Given the description of an element on the screen output the (x, y) to click on. 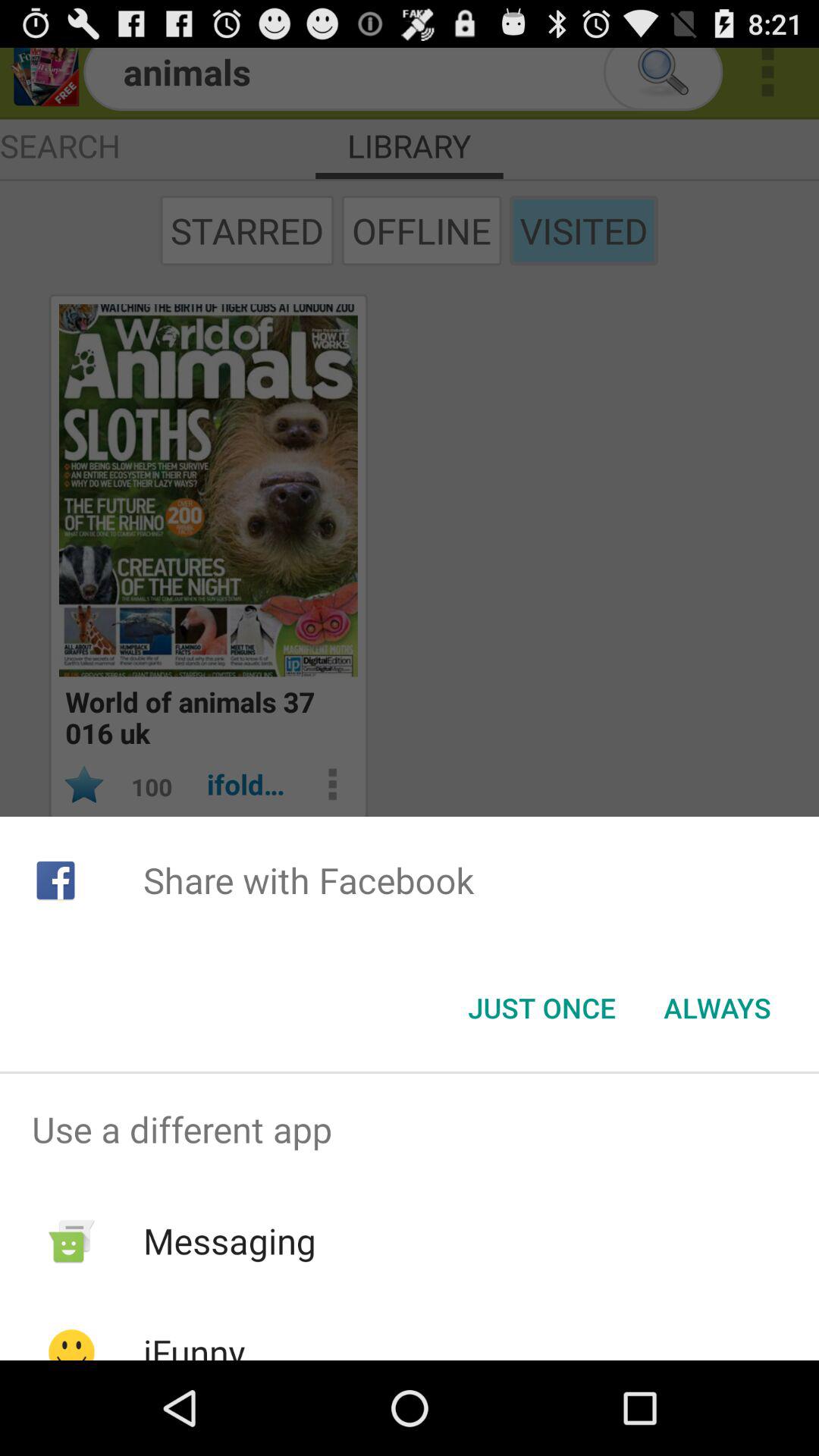
press the messaging icon (229, 1240)
